Given the description of an element on the screen output the (x, y) to click on. 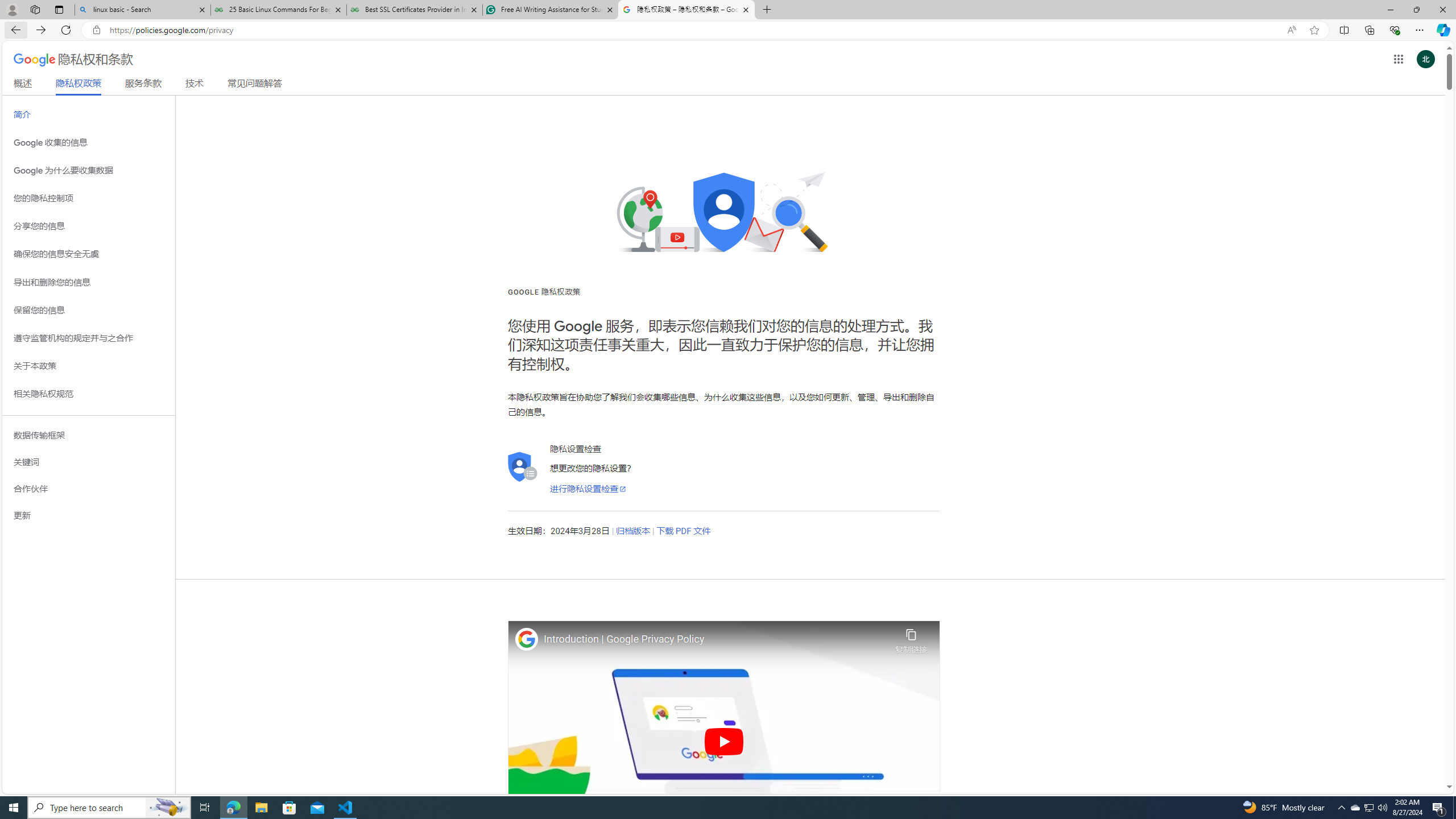
Browser essentials (1394, 29)
Minimize (1390, 9)
Restore (1416, 9)
Address and search bar (693, 29)
